Given the description of an element on the screen output the (x, y) to click on. 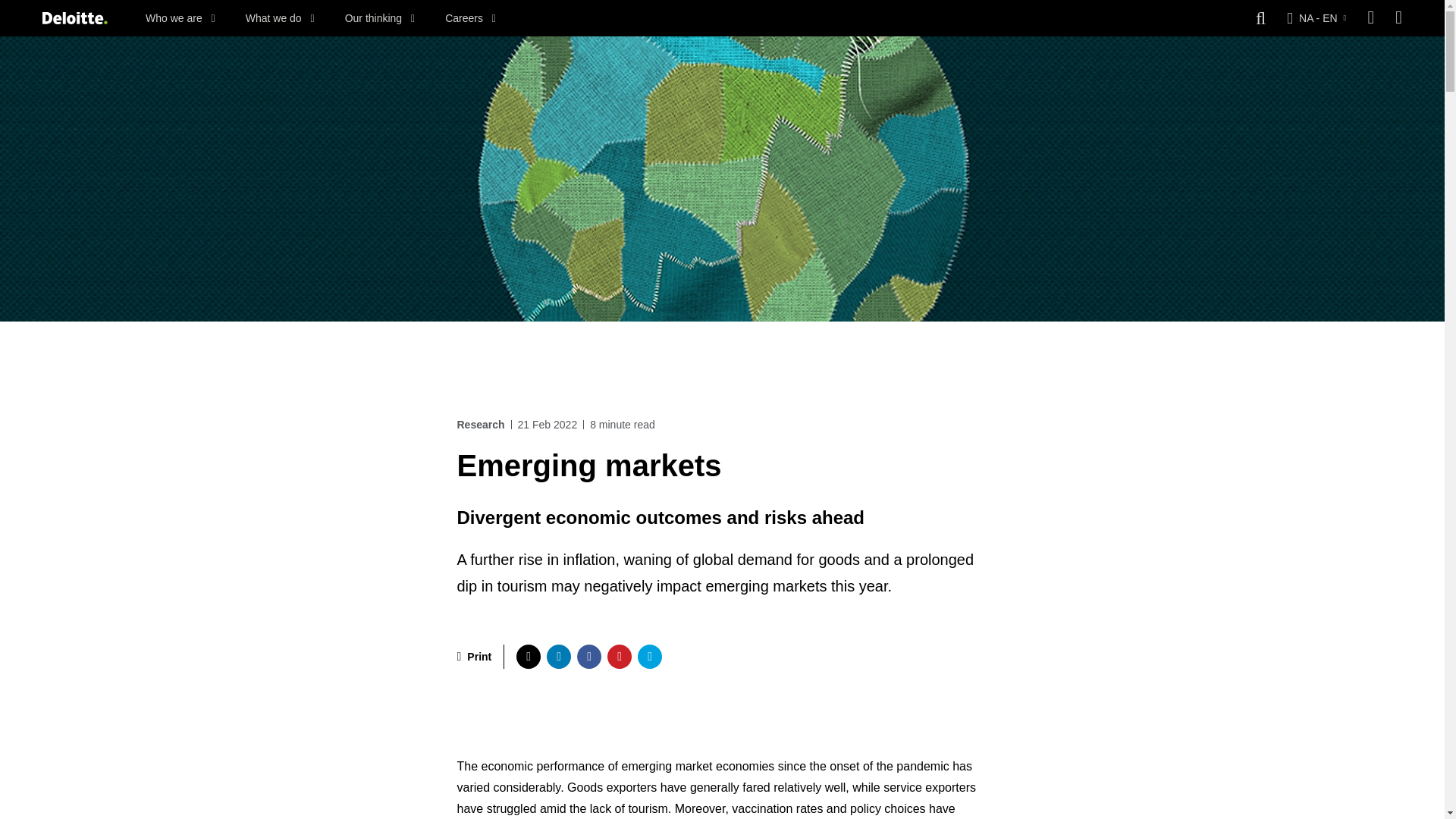
Who we are (180, 18)
share via twitter (528, 656)
share via... (649, 656)
share via facebook (588, 656)
share via linkedin (558, 656)
What we do (280, 18)
Our thinking (379, 18)
Print (474, 656)
Deloitte (74, 18)
Careers (470, 18)
share via pinterest (619, 656)
